Given the description of an element on the screen output the (x, y) to click on. 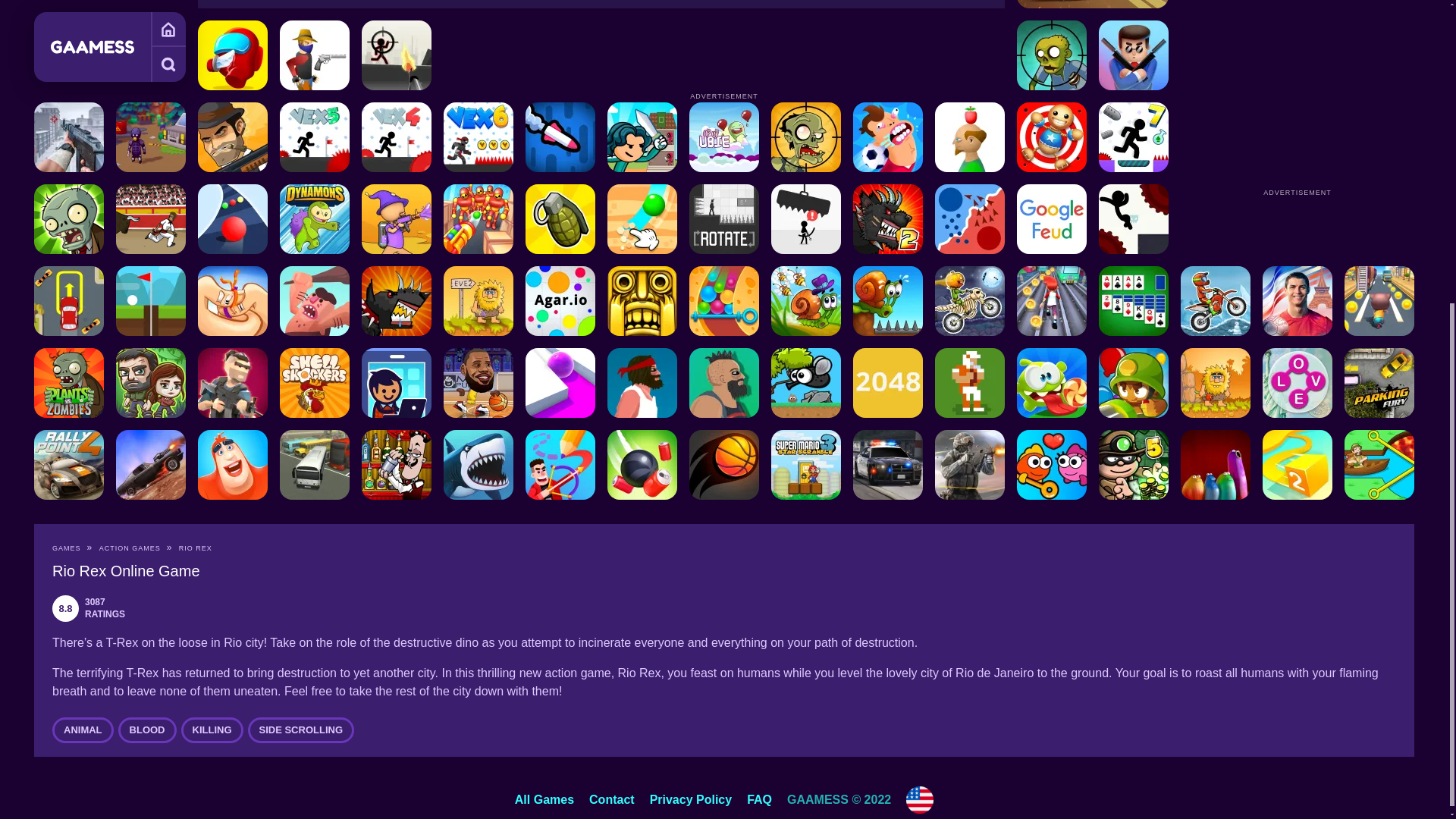
Rocket Bot Royale (560, 136)
Red Imposter (232, 55)
Restricted Zone (151, 136)
Vex 4 (395, 136)
Stupid Zombies (1051, 55)
Mafia Wars (232, 136)
Zombie Derby (1092, 4)
Gun Blood (314, 55)
Dead Zed (68, 136)
Stickman War (395, 55)
Vex 6 (478, 136)
Vex 5 (314, 136)
Mr Bullet (1134, 55)
Squad Tower (642, 136)
